Given the description of an element on the screen output the (x, y) to click on. 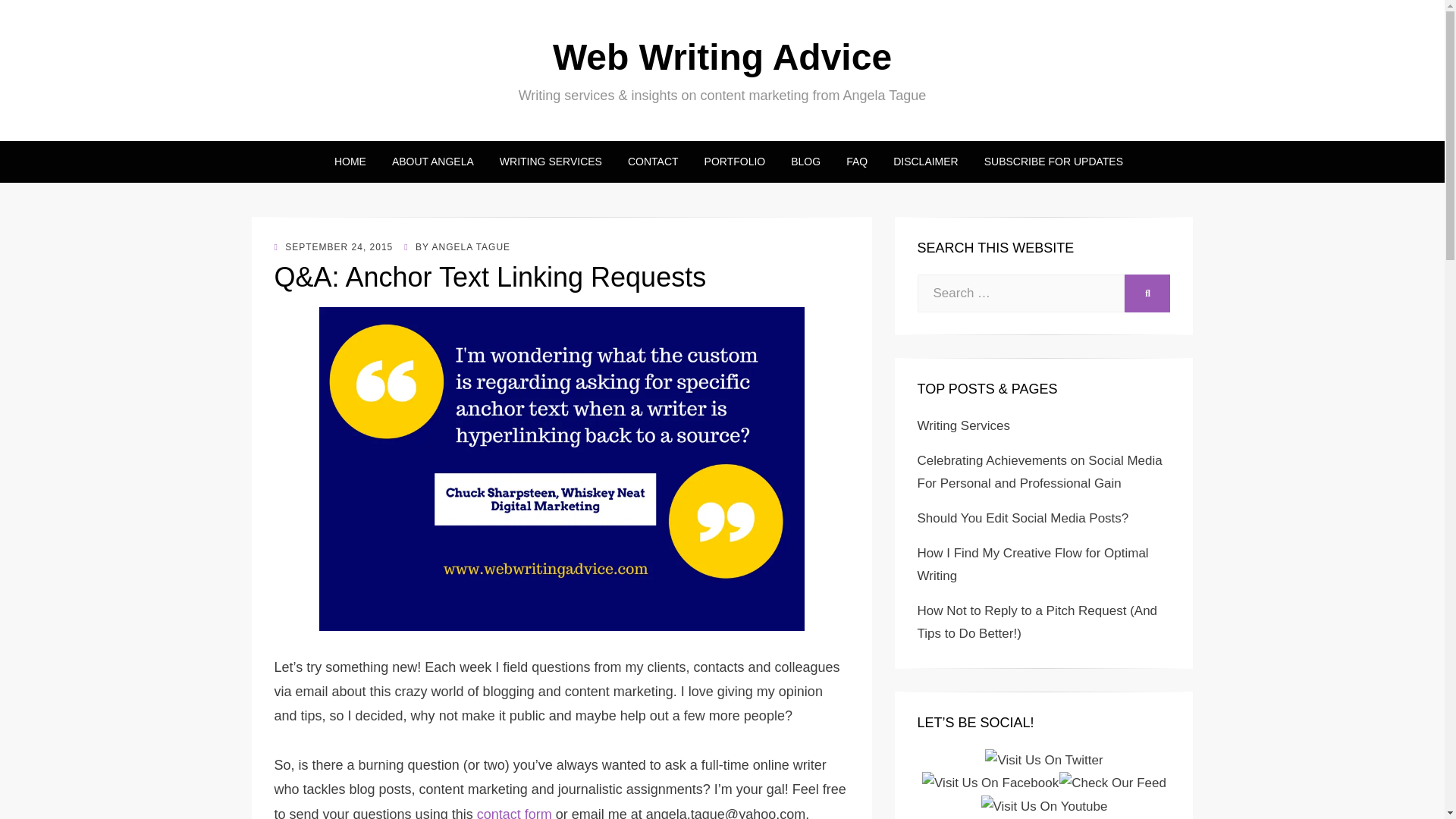
Visit Us On Facebook (989, 782)
SUBSCRIBE FOR UPDATES (1046, 161)
PORTFOLIO (734, 161)
DISCLAIMER (925, 161)
SEPTEMBER 24, 2015 (334, 246)
HOME (349, 161)
contact form (514, 812)
CONTACT (652, 161)
Visit Us On Twitter (1043, 759)
Web Writing Advice (722, 56)
